Given the description of an element on the screen output the (x, y) to click on. 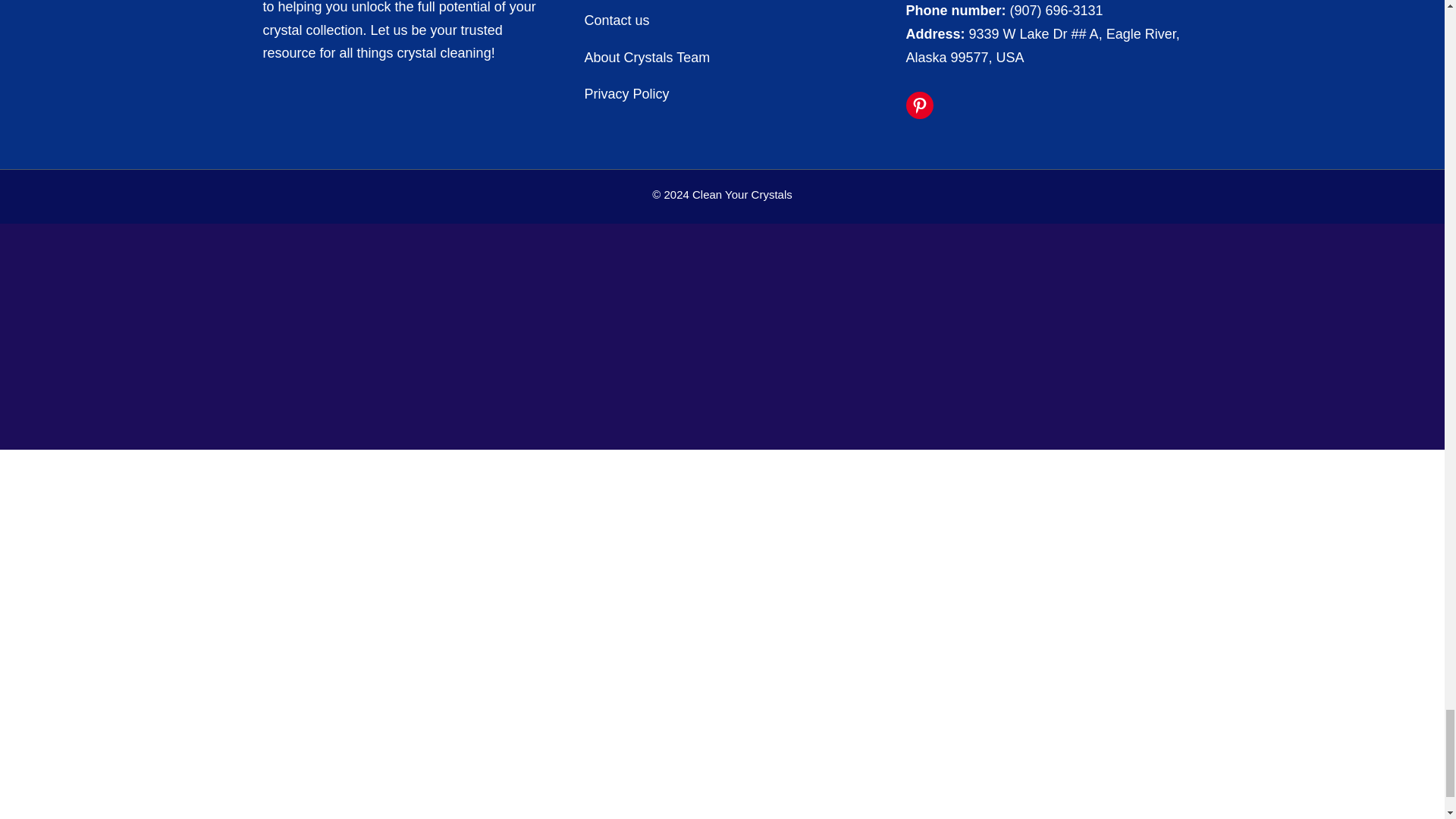
Privacy Policy  (627, 93)
About Crystals Team (646, 57)
Pinterest (919, 104)
Contact us (616, 20)
